Given the description of an element on the screen output the (x, y) to click on. 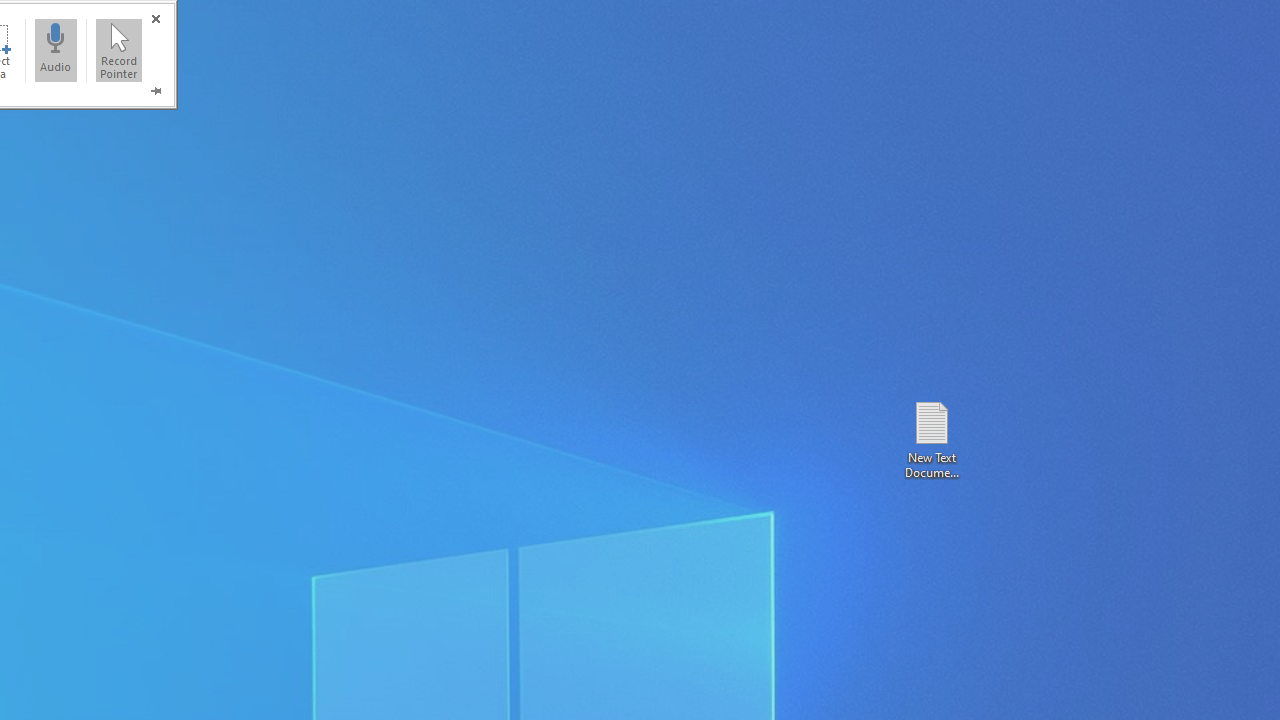
Pin the Dock (Windows logo key+Shift+I) (155, 90)
Record Pointer (119, 50)
Close (Windows logo key+Shift+Q) (155, 18)
